Given the description of an element on the screen output the (x, y) to click on. 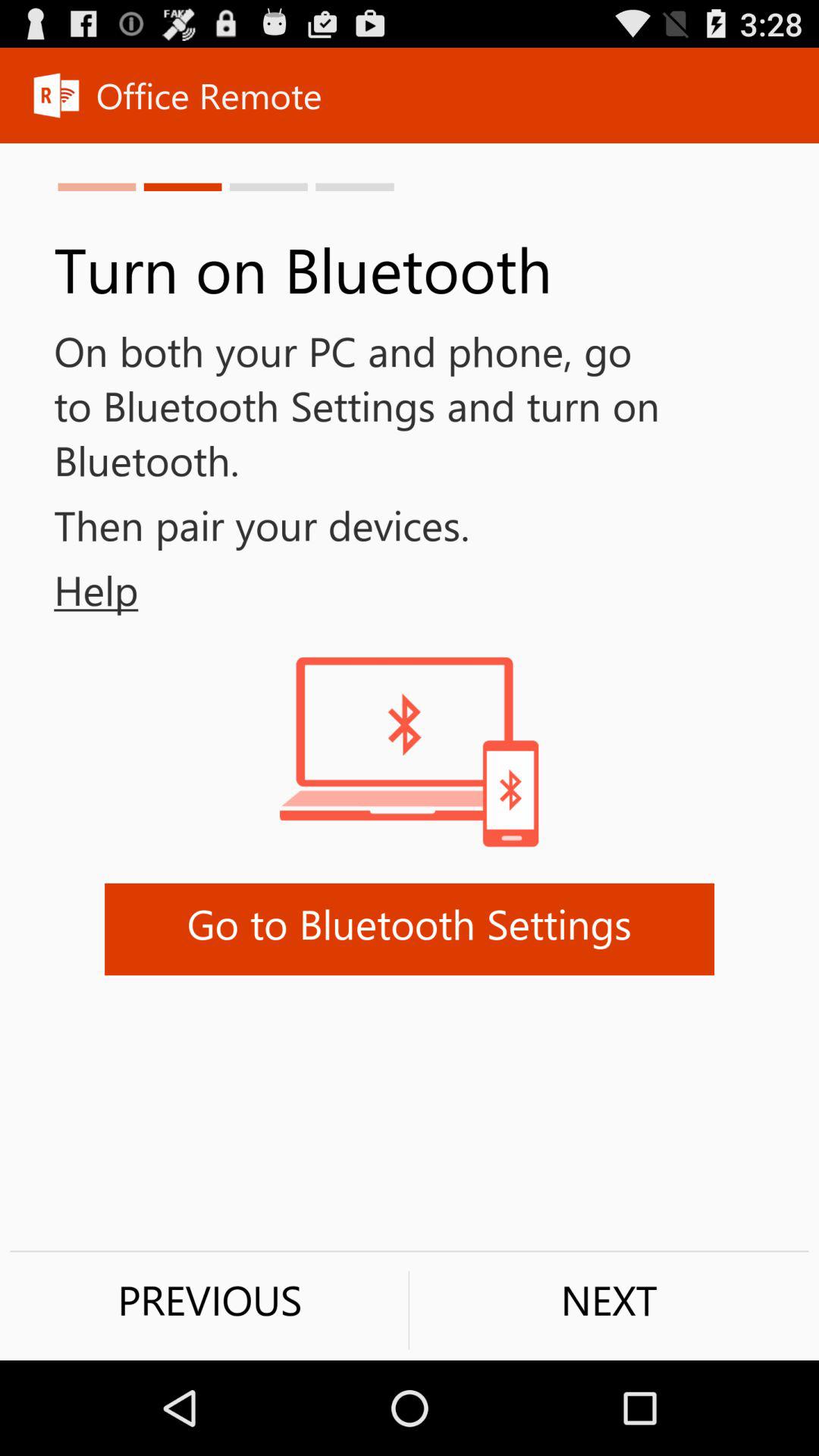
turn on item below the go to bluetooth icon (608, 1300)
